Given the description of an element on the screen output the (x, y) to click on. 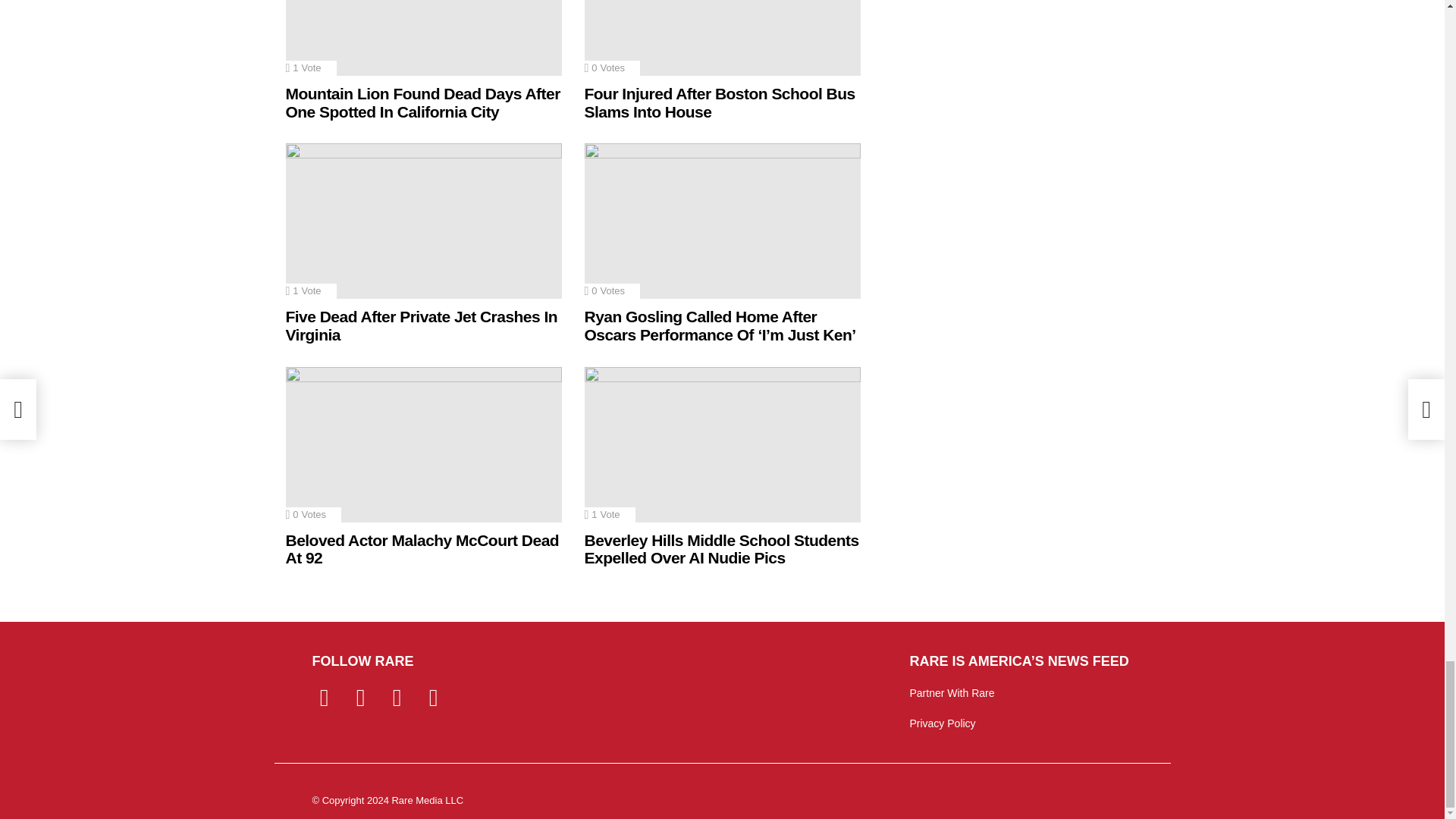
Four Injured After Boston School Bus Slams Into House (721, 38)
Five Dead After Private Jet Crashes In Virginia (422, 220)
